Given the description of an element on the screen output the (x, y) to click on. 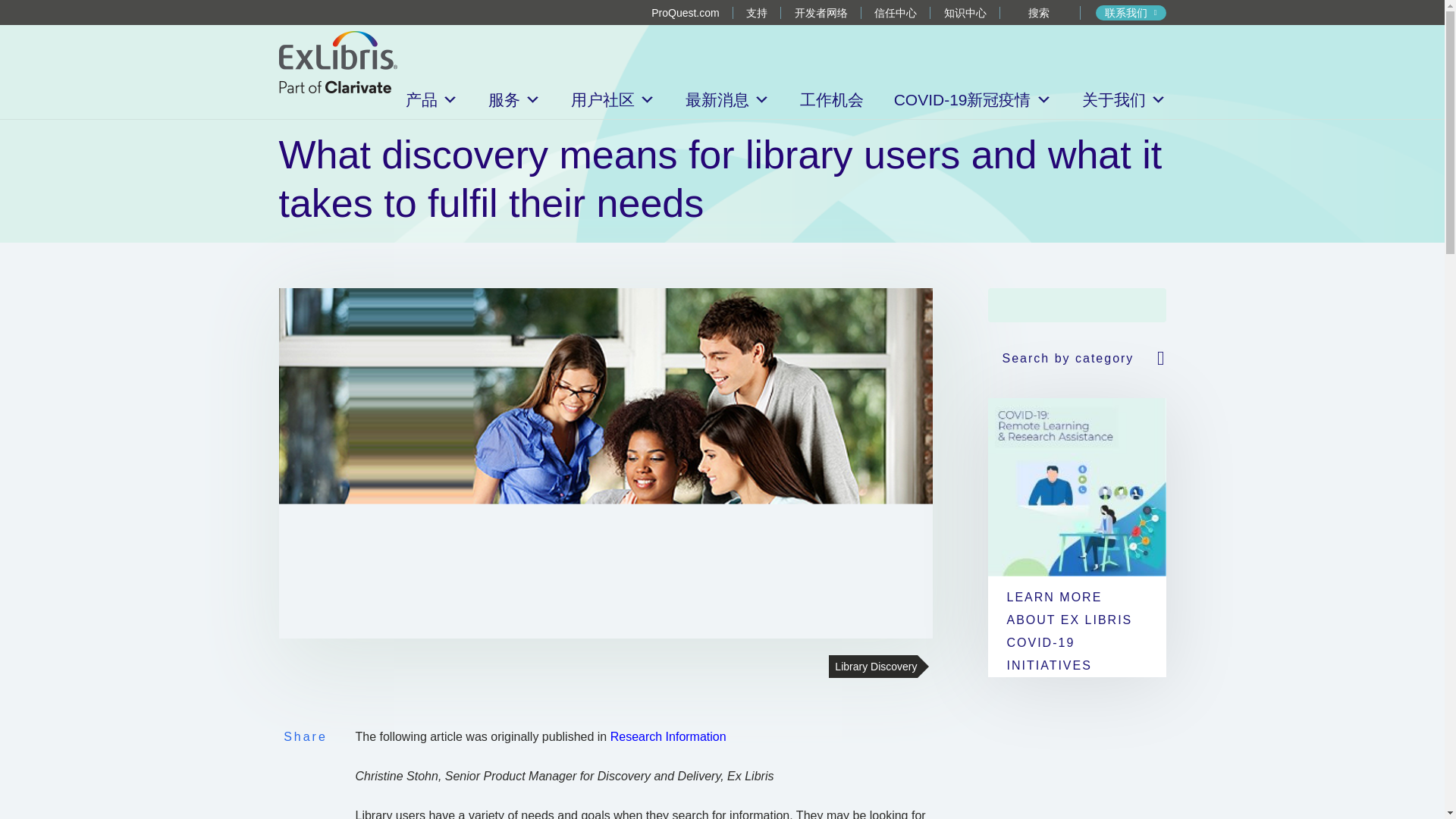
ProQuest.com (684, 12)
